Given the description of an element on the screen output the (x, y) to click on. 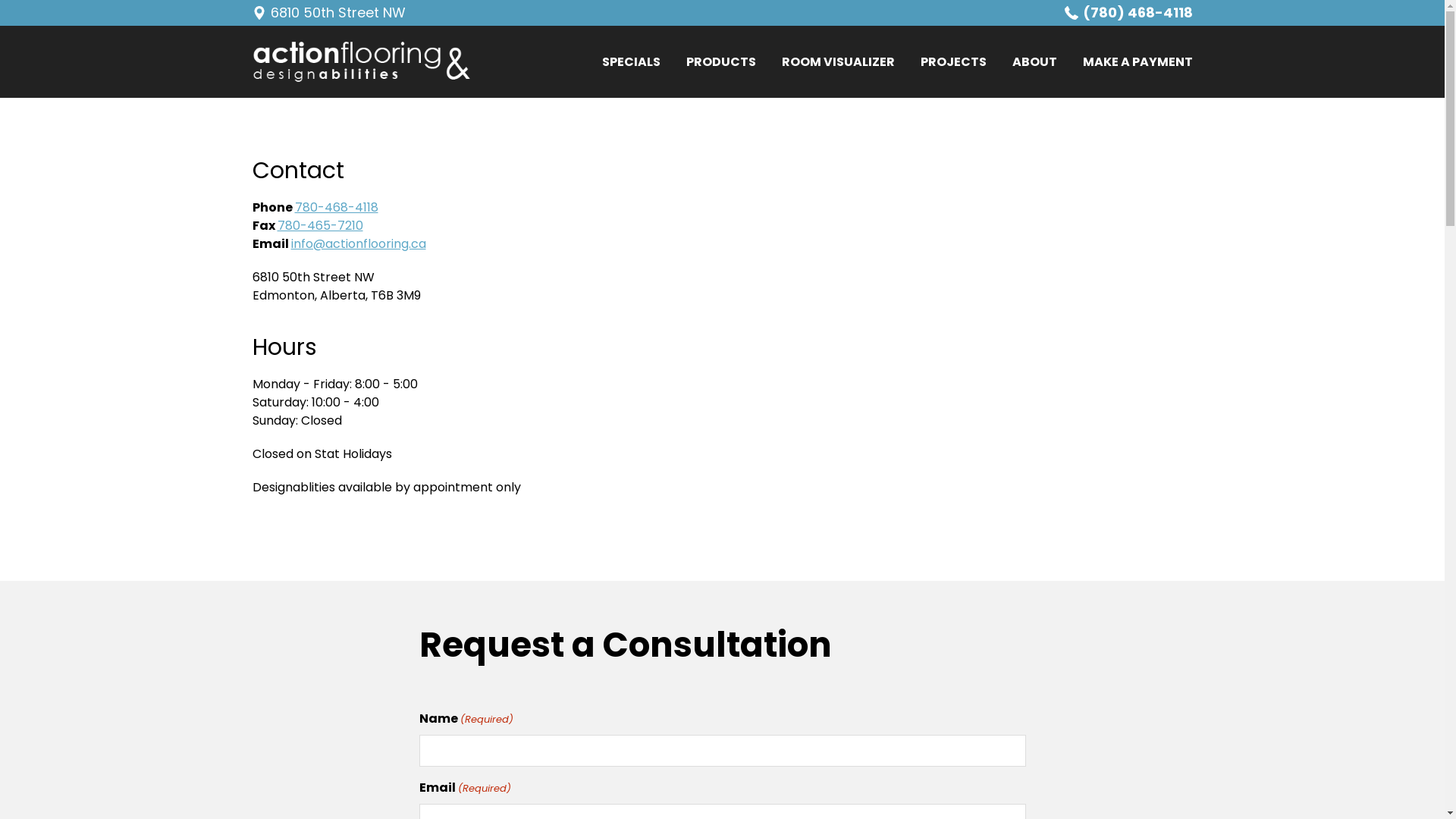
info@actionflooring.ca Element type: text (358, 243)
(780) 468-4118 Element type: text (1128, 12)
PRODUCTS Element type: text (720, 61)
ABOUT Element type: text (1033, 61)
MAKE A PAYMENT Element type: text (1137, 61)
PROJECTS Element type: text (953, 61)
780-468-4118 Element type: text (335, 207)
SPECIALS Element type: text (631, 61)
780-465-7210 Element type: text (320, 225)
ROOM VISUALIZER Element type: text (837, 61)
